Given the description of an element on the screen output the (x, y) to click on. 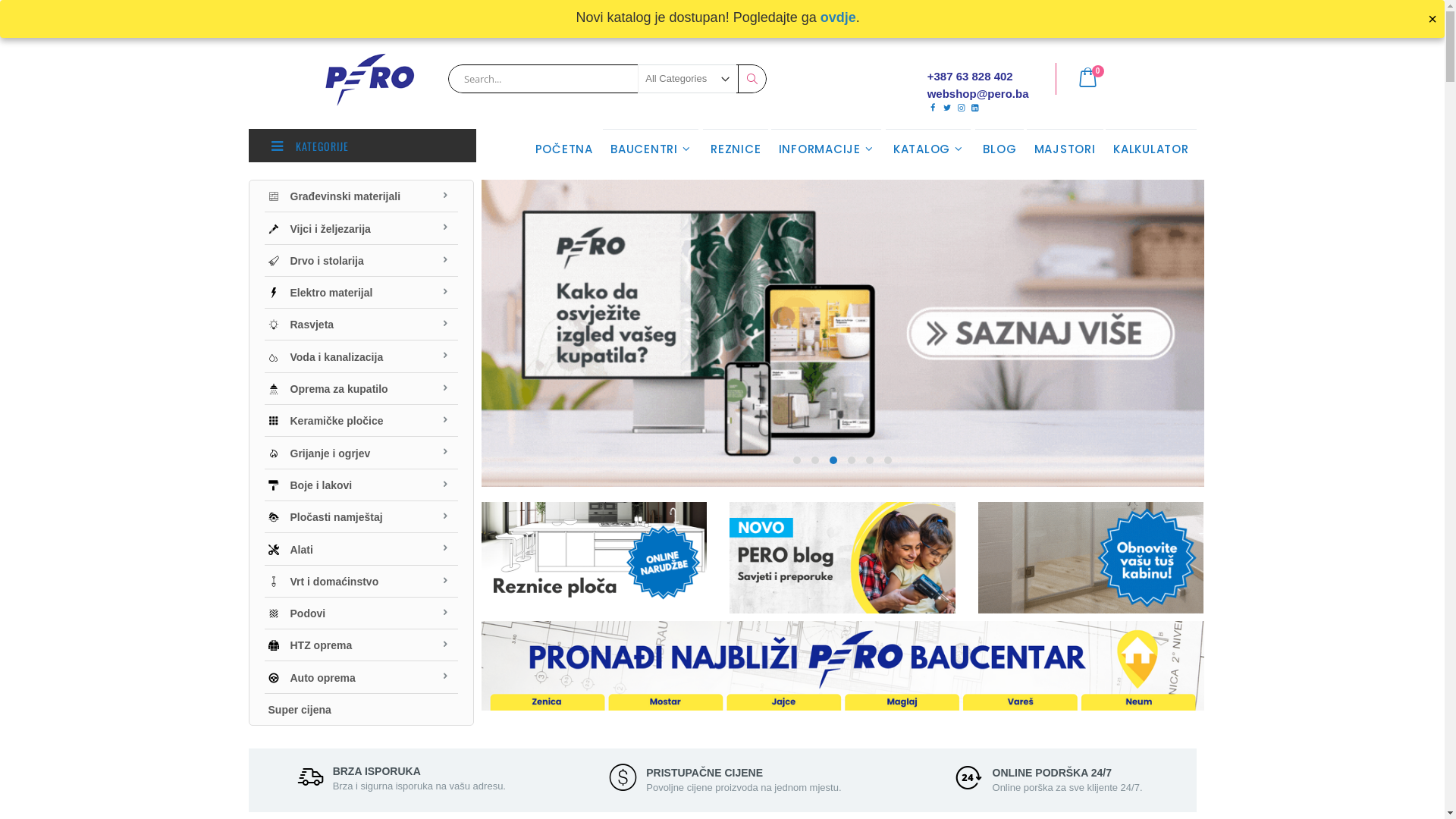
MAJSTORI Element type: text (1064, 148)
KATALOG Element type: text (927, 148)
Auto oprema Element type: text (360, 676)
Grijanje i ogrjev Element type: text (360, 451)
KATEGORIJE Element type: text (362, 145)
Cart
0 Element type: text (1096, 78)
Oprema za kupatilo Element type: text (360, 388)
Boje i lakovi Element type: text (360, 484)
Linkedin Element type: hover (974, 107)
Drvo i stolarija Element type: text (360, 260)
BLOG Element type: text (999, 148)
Twitter Element type: hover (946, 107)
INFORMACIJE Element type: text (826, 148)
PRIJAVITE SE Element type: text (1009, 13)
BAUCENTRI Element type: text (650, 148)
USPOREDITE () Element type: text (343, 13)
KALKULATOR Element type: text (1150, 148)
Rasvjeta Element type: text (360, 323)
Alati Element type: text (360, 548)
Facebook Element type: hover (932, 107)
HTZ oprema Element type: text (360, 644)
Super cijena Element type: text (360, 708)
REZNICE Element type: text (735, 148)
Elektro materijal Element type: text (360, 291)
ovdje Element type: text (838, 17)
Podovi Element type: text (360, 612)
Instagram Element type: hover (960, 107)
KONTAKTIRAJTE NAS Element type: text (911, 13)
Voda i kanalizacija Element type: text (360, 355)
